Given the description of an element on the screen output the (x, y) to click on. 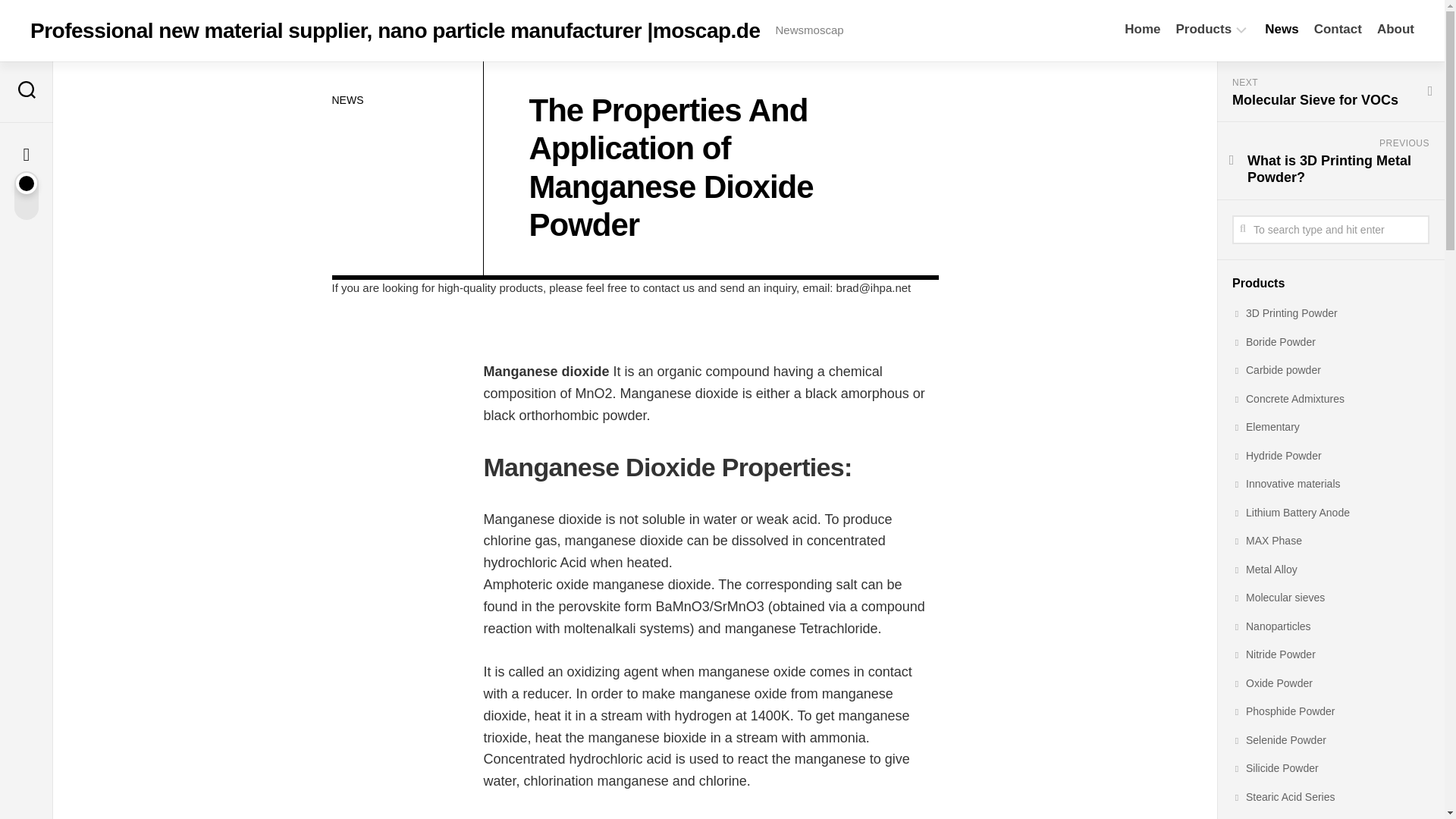
To search type and hit enter (1330, 229)
About (1395, 29)
Products (1203, 29)
To search type and hit enter (1330, 229)
Home (1142, 29)
Contact (1337, 29)
News (1281, 29)
